Given the description of an element on the screen output the (x, y) to click on. 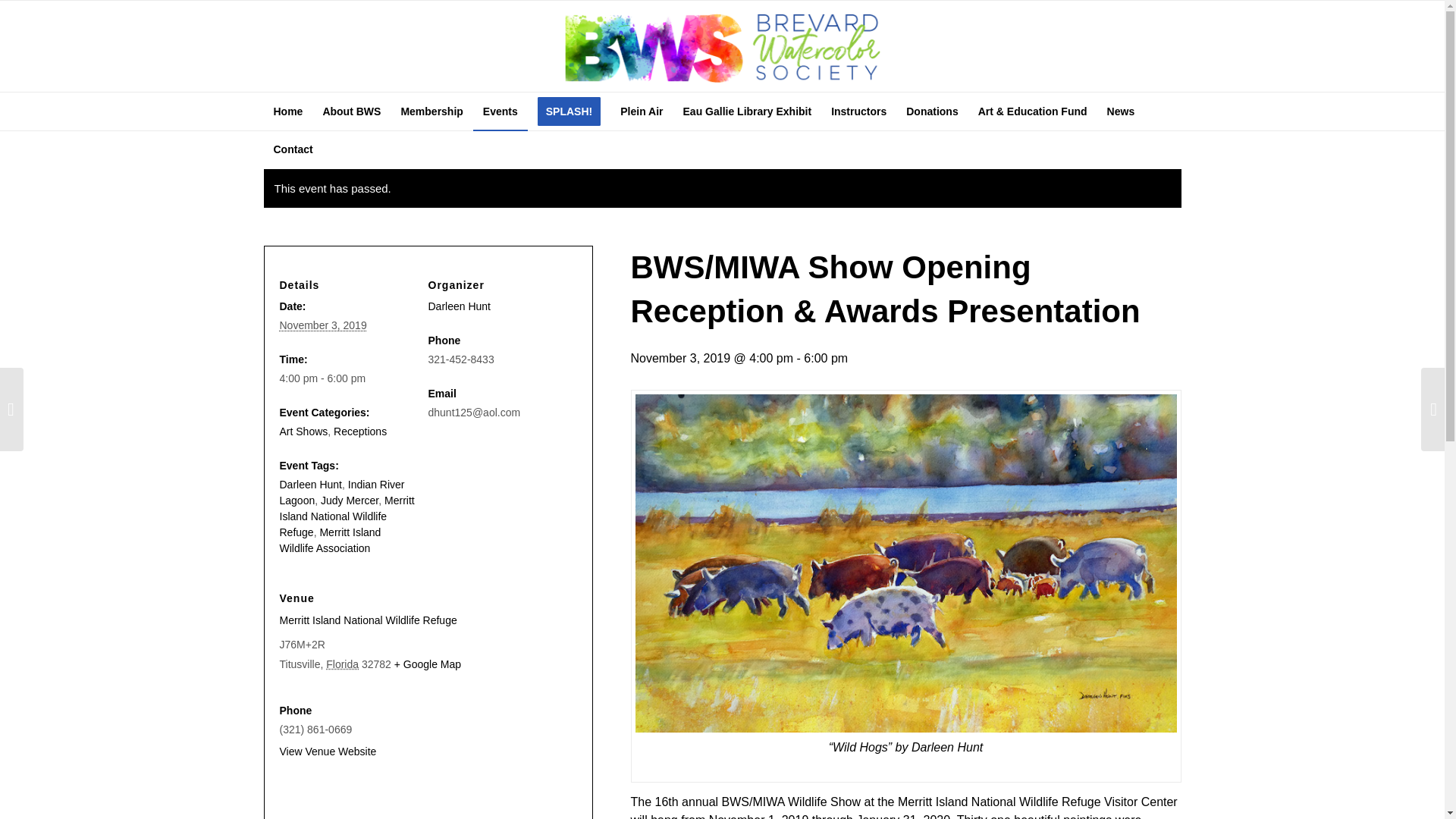
2019-11-03 (346, 378)
News (1120, 111)
Plein Air (641, 111)
Membership (430, 111)
Donations (932, 111)
BWS-logo-08182019-horiz-440px (722, 45)
About BWS (351, 111)
Home (288, 111)
Events (500, 111)
Contact (293, 149)
